Given the description of an element on the screen output the (x, y) to click on. 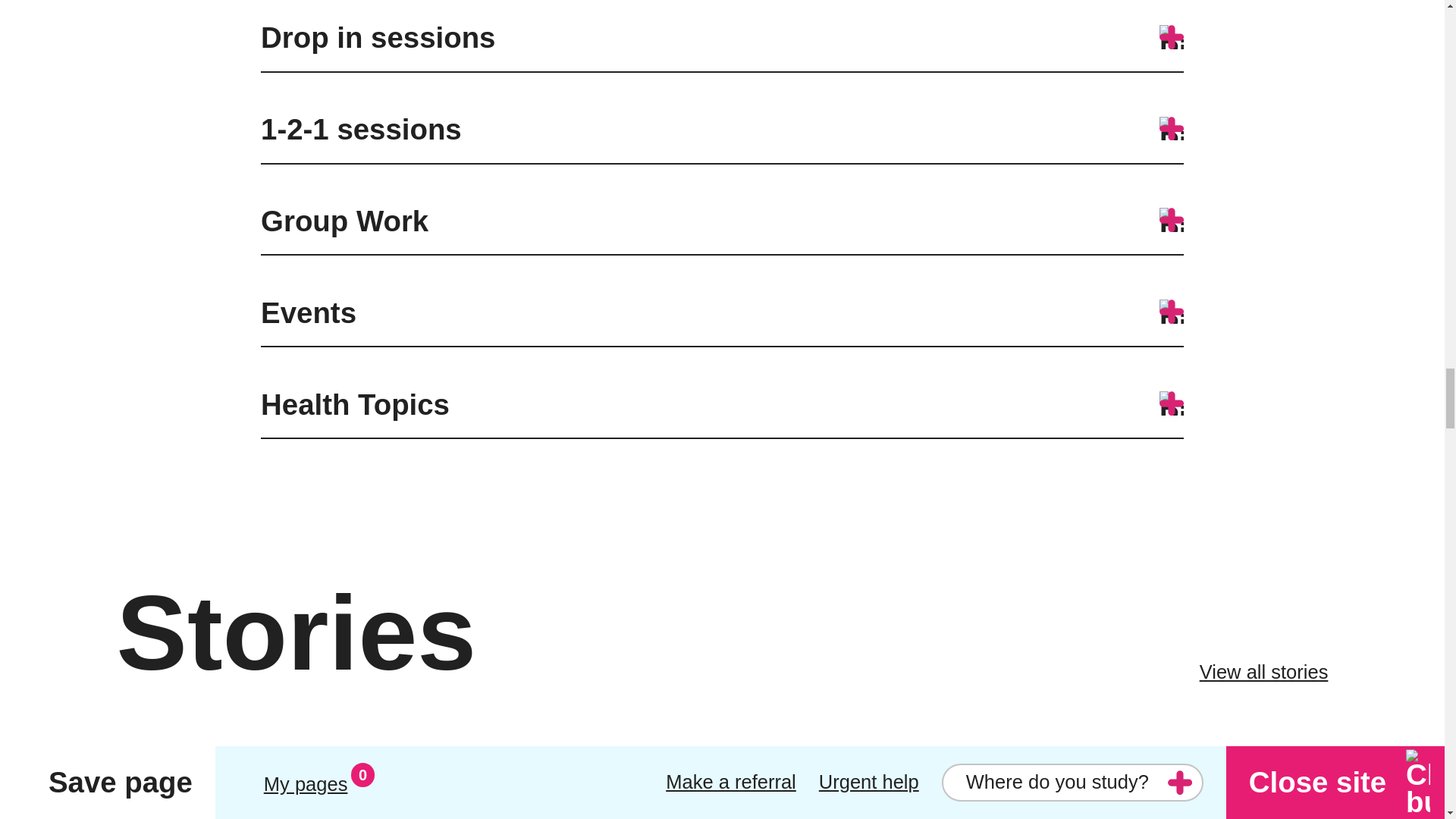
View all stories (1263, 672)
Health Topics (721, 412)
Events (721, 320)
Drop in sessions (721, 45)
Group Work (721, 228)
1-2-1 sessions (721, 137)
